Given the description of an element on the screen output the (x, y) to click on. 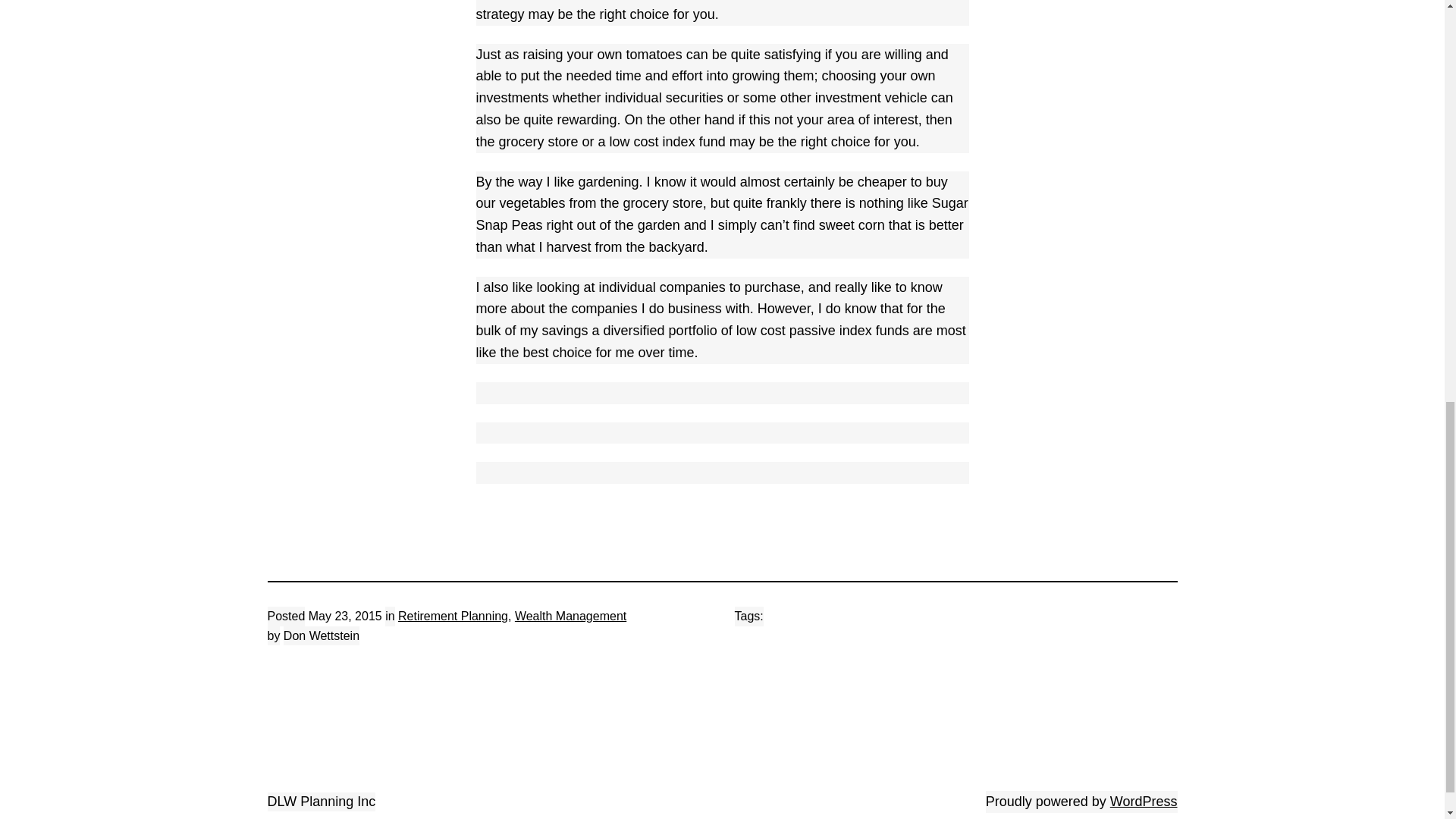
WordPress (1143, 801)
Wealth Management (570, 615)
Retirement Planning (452, 615)
DLW Planning Inc (320, 801)
